Given the description of an element on the screen output the (x, y) to click on. 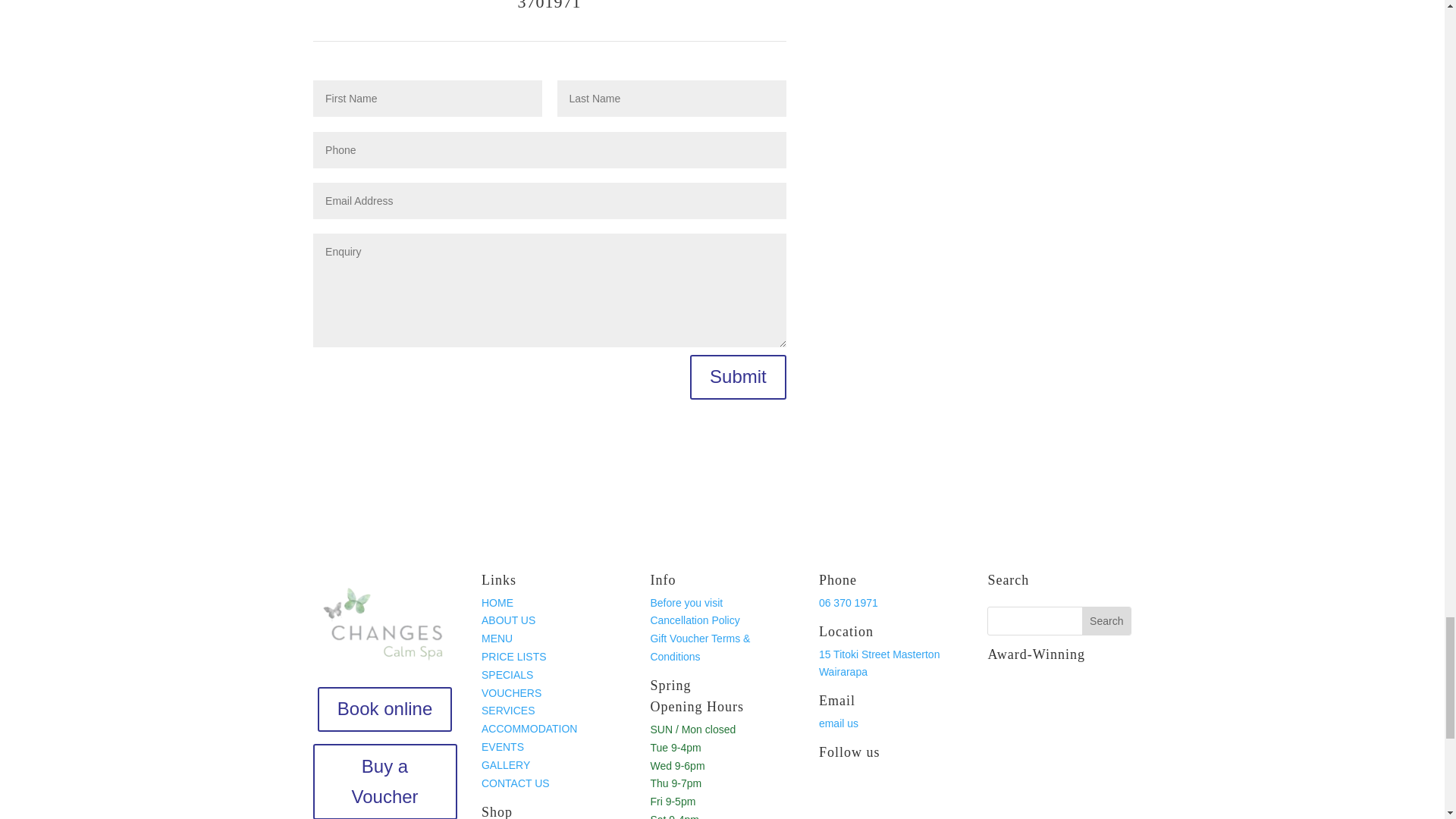
Follow on Facebook (830, 790)
Follow on Instagram (860, 790)
Search (1106, 620)
Submit (738, 376)
PRICE LISTS (514, 656)
Buy a Voucher (385, 781)
MENU (496, 638)
SPECIALS (506, 674)
HOME (497, 603)
Search (1106, 620)
